Given the description of an element on the screen output the (x, y) to click on. 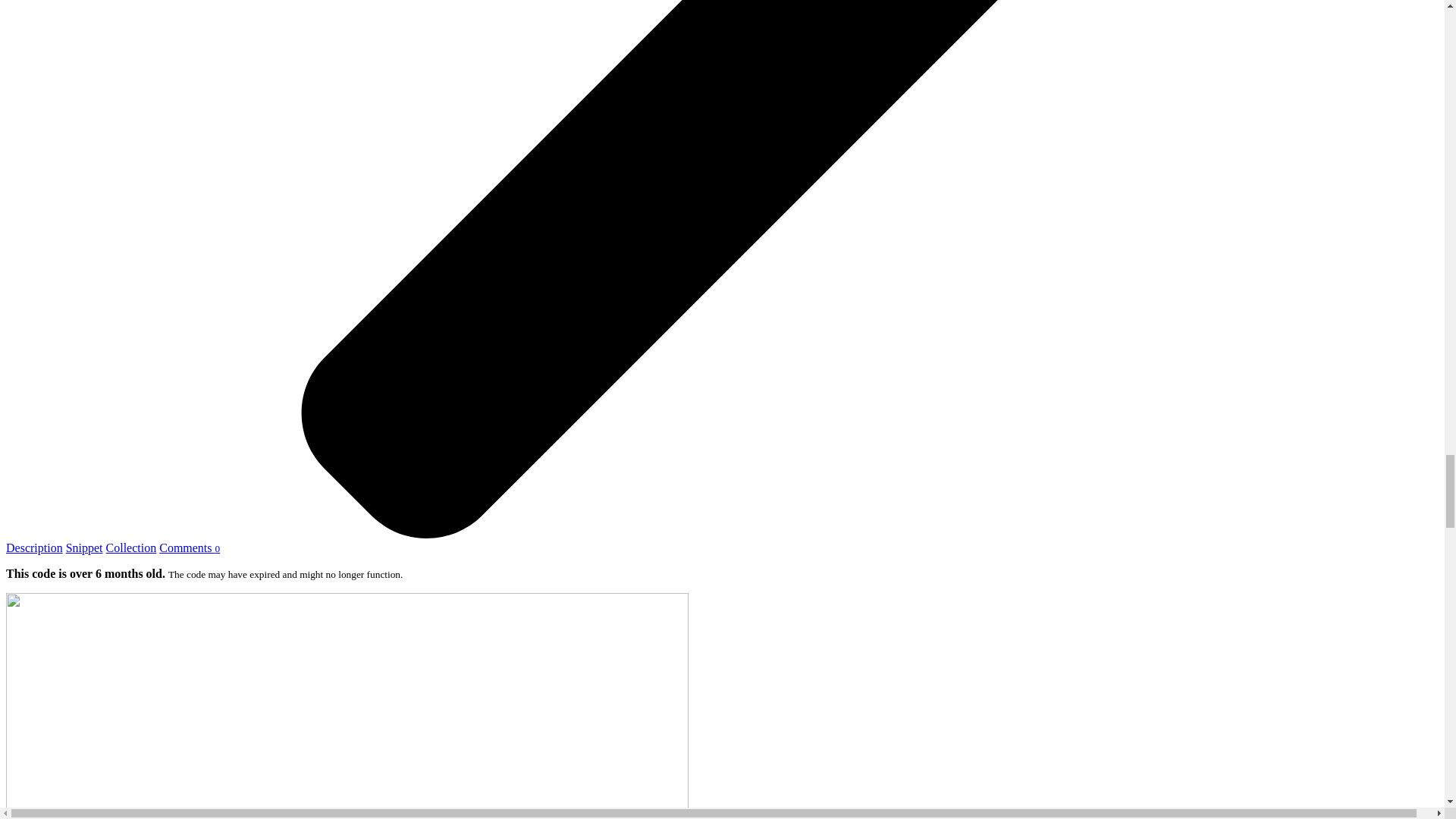
Collection (131, 547)
Snippet (84, 547)
Comments 0 (188, 547)
Description (33, 547)
